Given the description of an element on the screen output the (x, y) to click on. 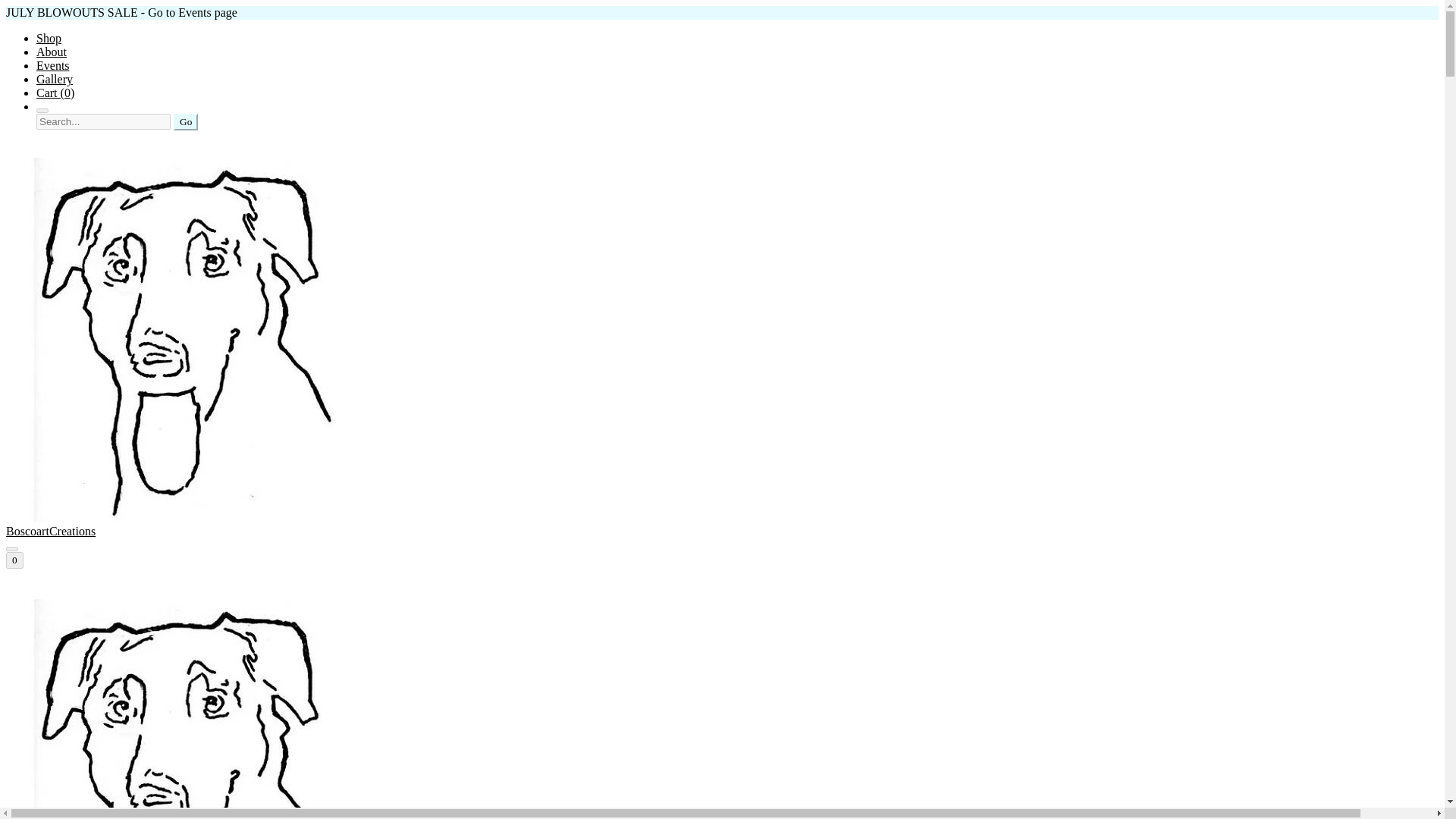
Go (185, 121)
Go (185, 121)
0 (14, 560)
About (51, 51)
Events (52, 65)
Shop (48, 38)
Gallery (54, 78)
